Given the description of an element on the screen output the (x, y) to click on. 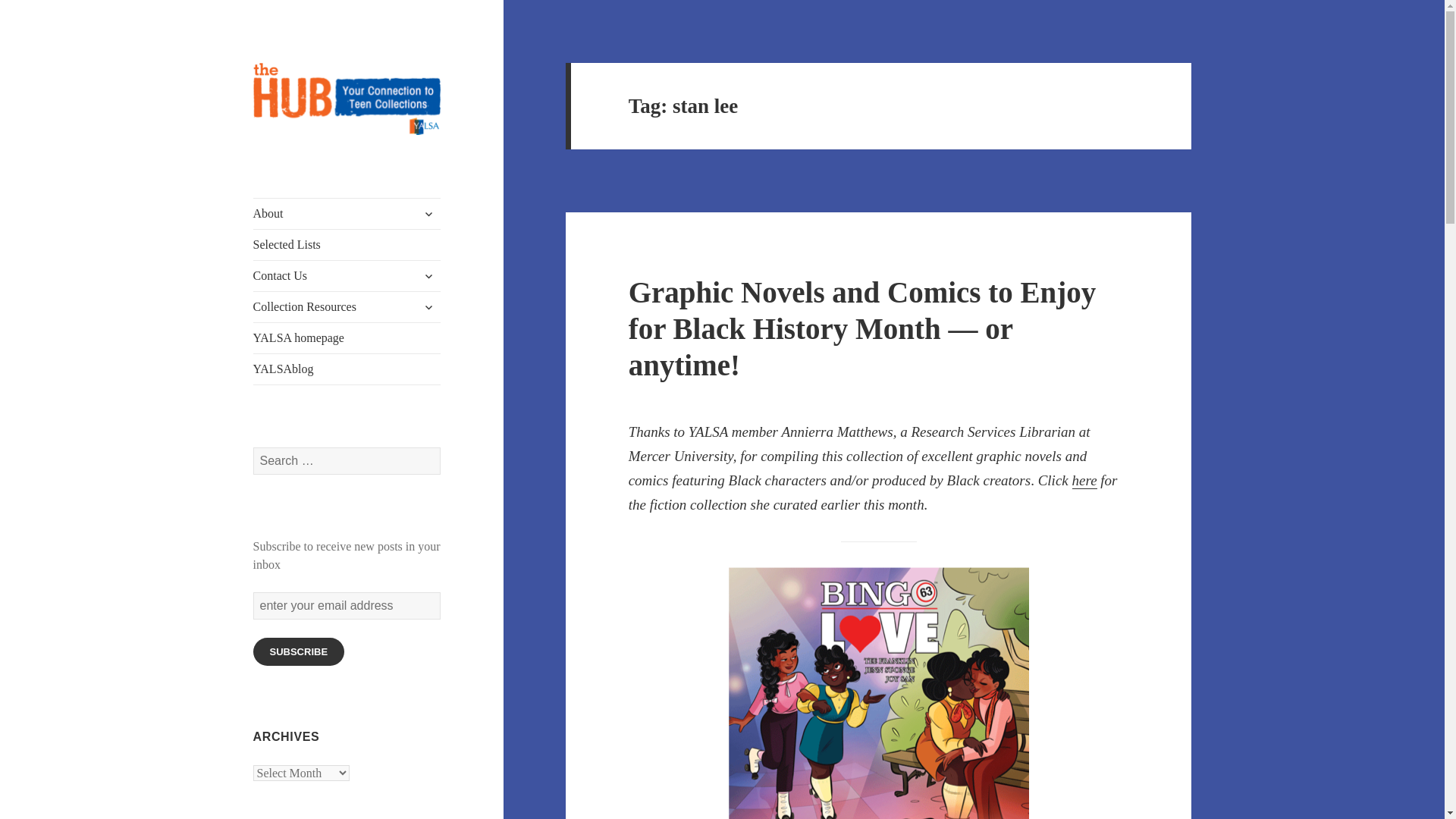
here (1084, 480)
YALSAblog (347, 368)
Selected Lists (347, 245)
expand child menu (428, 213)
Contact Us (347, 276)
The Hub (293, 159)
expand child menu (428, 275)
Collection Resources (347, 306)
YALSA homepage (347, 337)
expand child menu (428, 306)
About (347, 214)
SUBSCRIBE (299, 651)
